Given the description of an element on the screen output the (x, y) to click on. 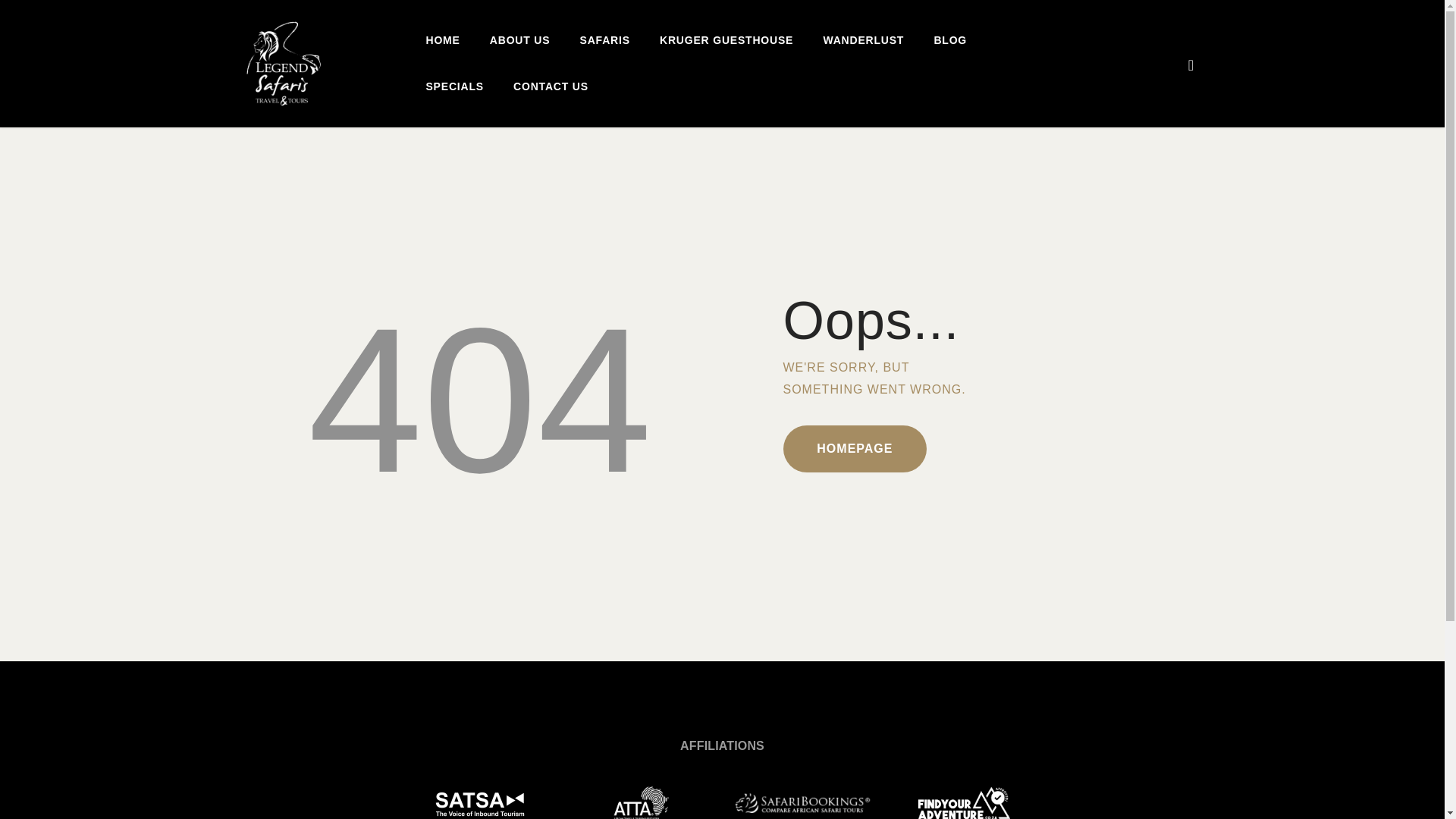
BLOG (949, 40)
WANDERLUST (863, 40)
satsa3 (480, 802)
ABOUT US (519, 40)
CONTACT US (549, 85)
HOME (442, 40)
SPECIALS (454, 85)
SAFARIS (604, 40)
KRUGER GUESTHOUSE (726, 40)
